Given the description of an element on the screen output the (x, y) to click on. 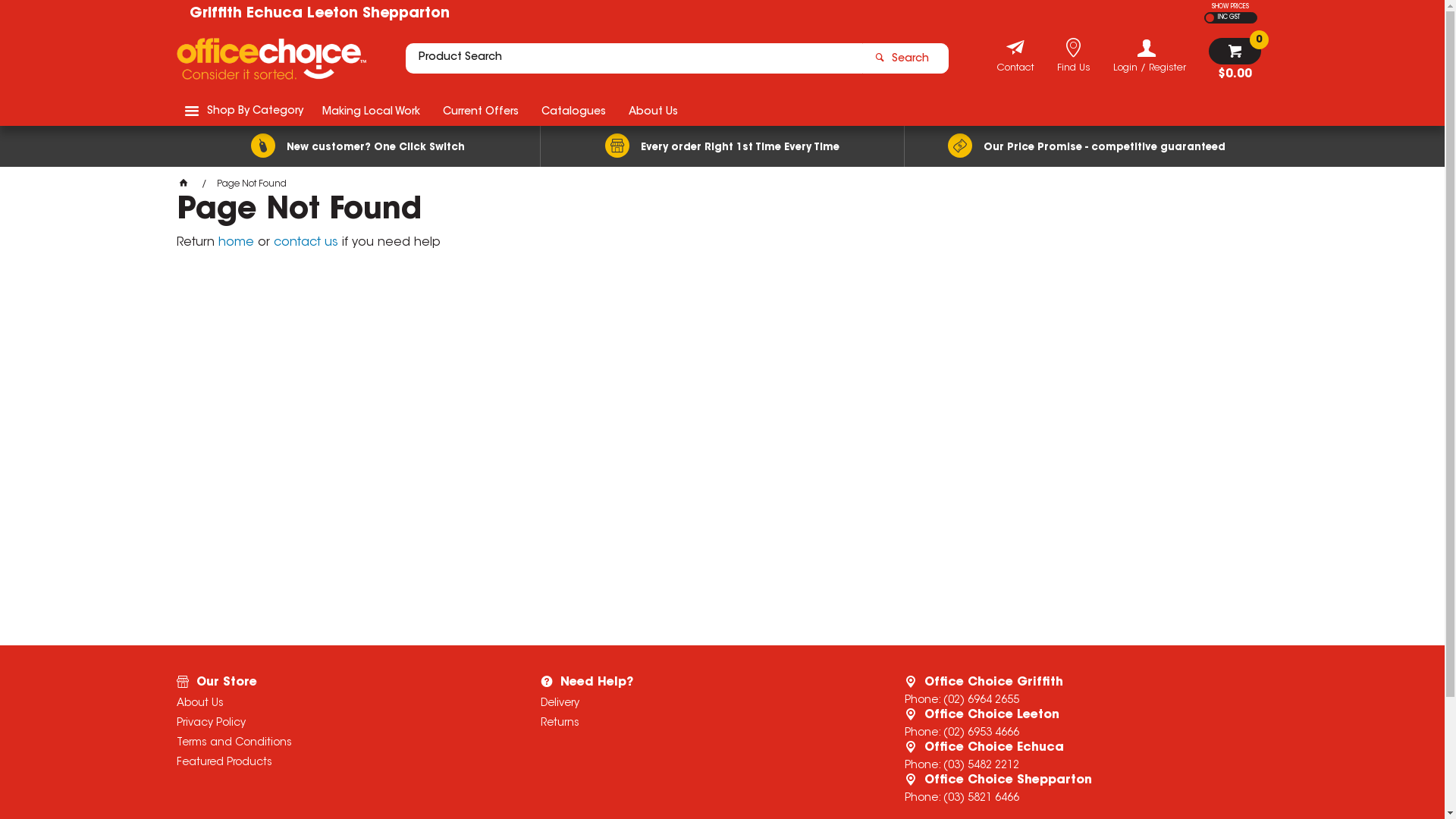
Catalogues Element type: text (572, 110)
About Us Element type: text (337, 703)
(03) 5821 6466 Element type: text (981, 798)
Every order Right 1st Time Every Time Element type: text (721, 145)
(02) 6964 2655 Element type: text (981, 700)
Privacy Policy Element type: text (337, 723)
$0.00
0 Element type: text (1234, 59)
contact us Element type: text (305, 242)
EX GST Element type: text (1209, 17)
About Us Element type: text (653, 110)
Delivery Element type: text (701, 703)
home Element type: text (236, 242)
Returns Element type: text (701, 723)
(03) 5482 2212 Element type: text (981, 765)
Contact Element type: text (1014, 69)
New customer? One Click Switch Element type: text (357, 145)
INC GST Element type: text (1226, 17)
Current Offers Element type: text (479, 110)
Our Price Promise - competitive guaranteed Element type: text (1085, 145)
Making Local Work Element type: text (370, 110)
(02) 6953 4666 Element type: text (981, 733)
Terms and Conditions Element type: text (337, 743)
Find Us Element type: text (1073, 69)
Featured Products Element type: text (337, 762)
Search Element type: text (904, 58)
Login / Register Element type: text (1149, 55)
